Given the description of an element on the screen output the (x, y) to click on. 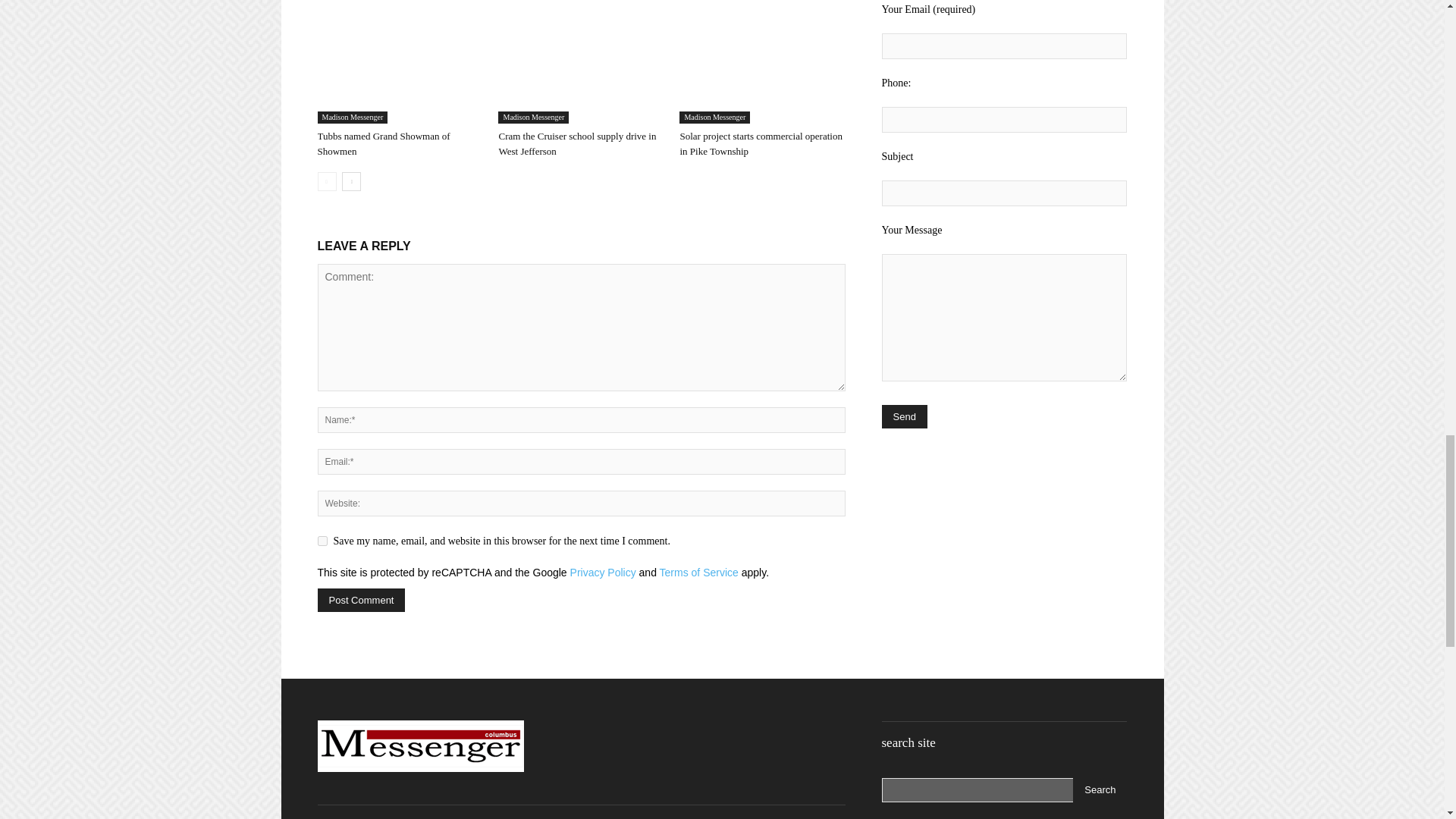
Post Comment (360, 599)
Search (1099, 790)
Send (903, 416)
Tubbs named Grand Showman of Showmen (399, 66)
yes (321, 541)
Cram the Cruiser school supply drive in West Jefferson (576, 143)
Tubbs named Grand Showman of Showmen (383, 143)
Cram the Cruiser school supply drive in West Jefferson (580, 66)
Solar project starts commercial operation in Pike Township (761, 66)
